Given the description of an element on the screen output the (x, y) to click on. 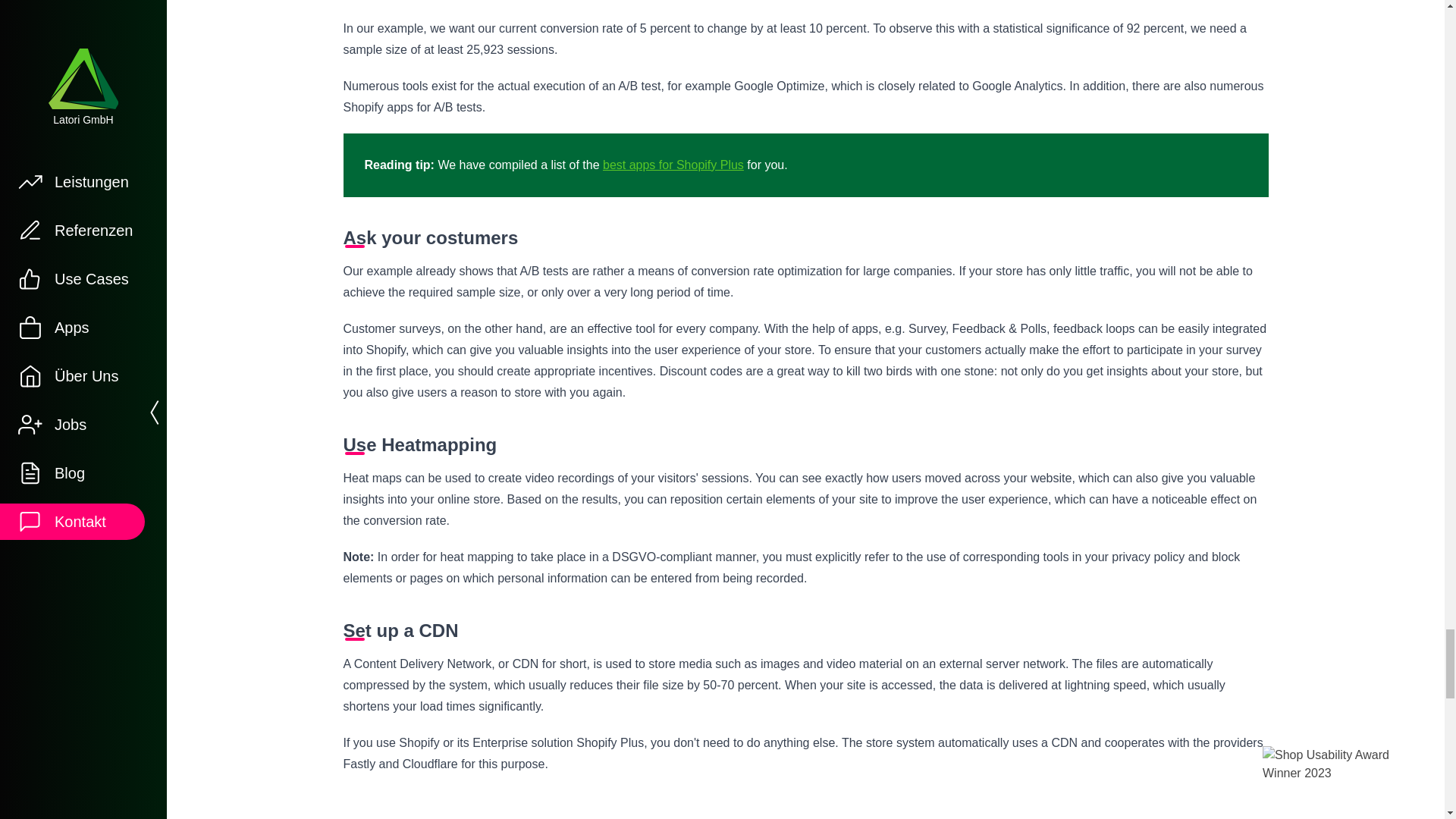
Use Heatmapping (805, 445)
best apps for Shopify Plus (673, 164)
Set up a CDN (805, 630)
Ask your costumers (805, 238)
